Given the description of an element on the screen output the (x, y) to click on. 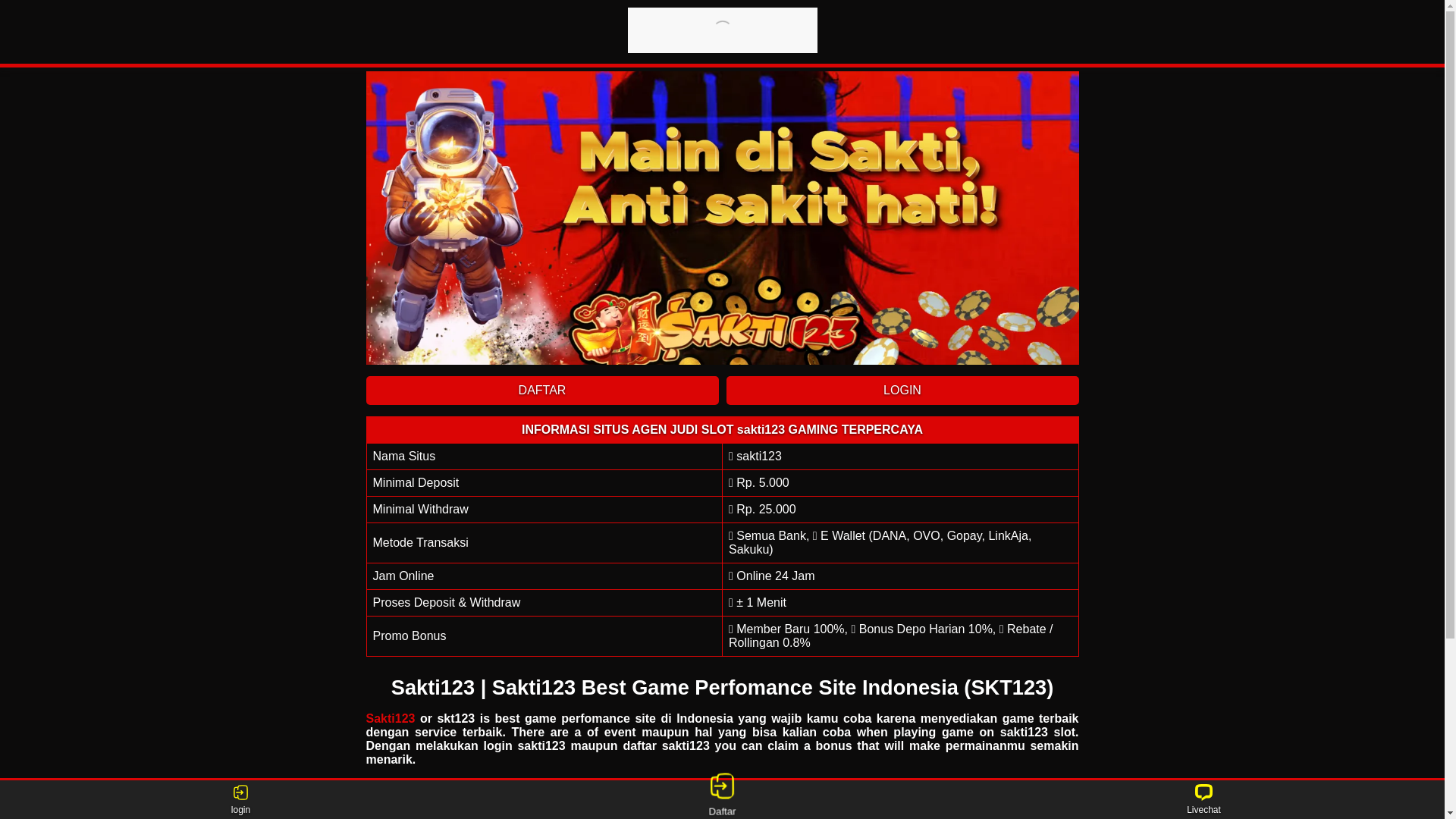
login Element type: text (240, 799)
sakti123 Element type: hover (721, 217)
sakti123 Element type: hover (722, 30)
Sakti123 Element type: text (389, 718)
DAFTAR Element type: text (541, 390)
Livechat Element type: text (1203, 799)
LOGIN Element type: text (902, 390)
Daftar Element type: text (724, 799)
